Given the description of an element on the screen output the (x, y) to click on. 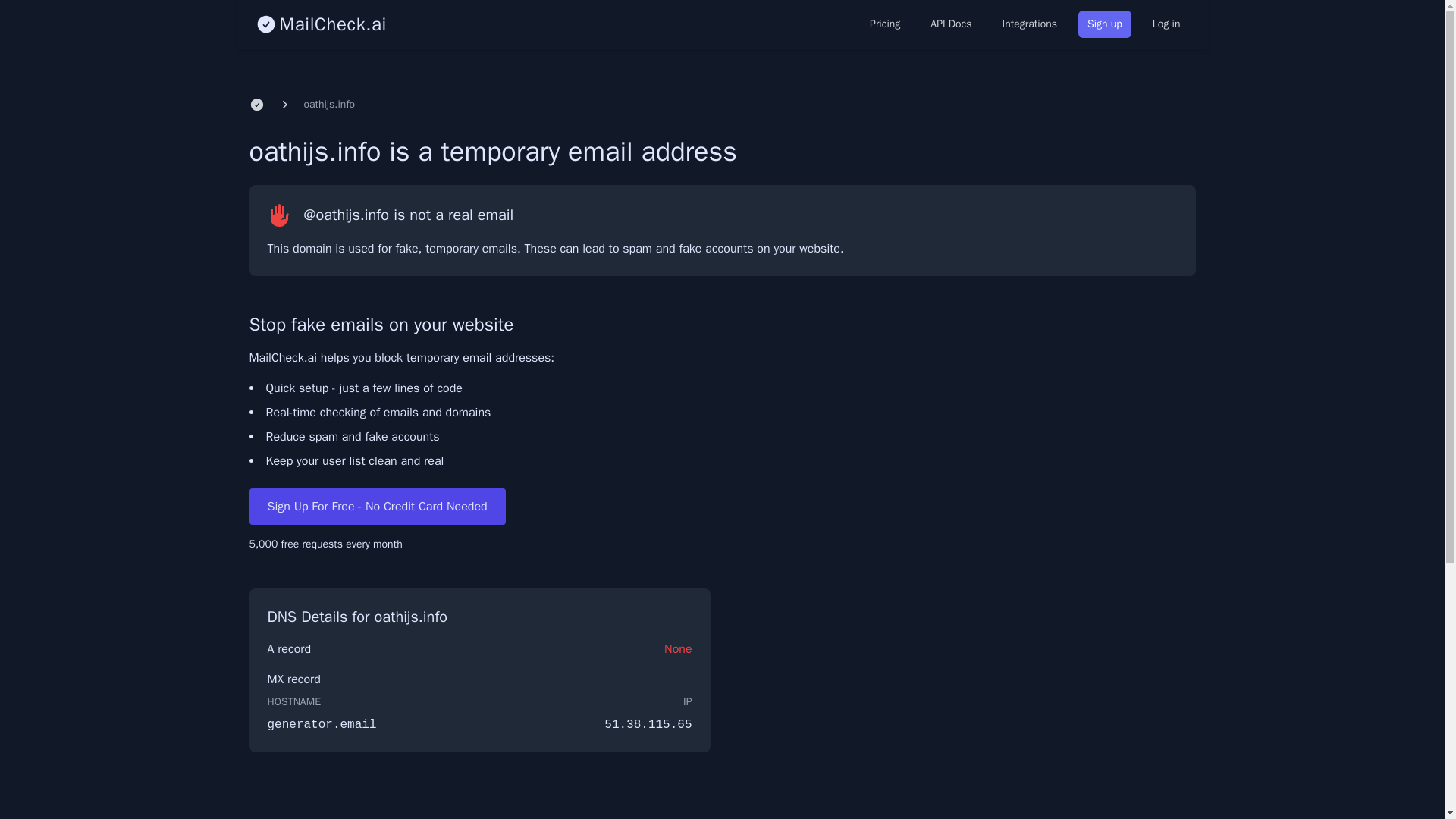
Sign up (1104, 23)
Log in (1165, 23)
Pricing (884, 23)
MailCheck.ai (319, 23)
API Docs (950, 23)
Home (255, 104)
oathijs.info (328, 104)
Integrations (1028, 23)
Sign Up For Free - No Credit Card Needed (376, 506)
